Given the description of an element on the screen output the (x, y) to click on. 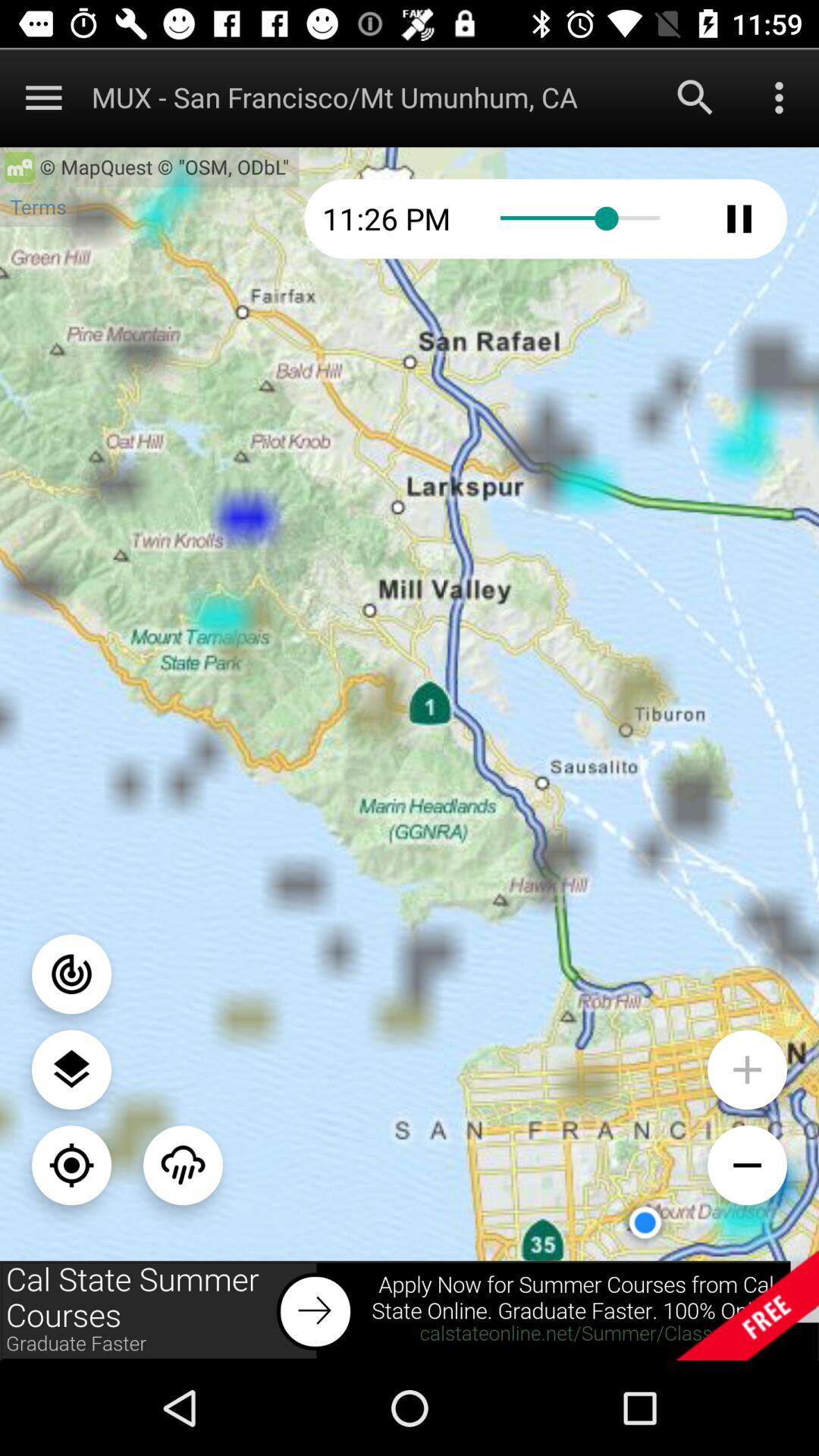
pause audio (739, 218)
